Given the description of an element on the screen output the (x, y) to click on. 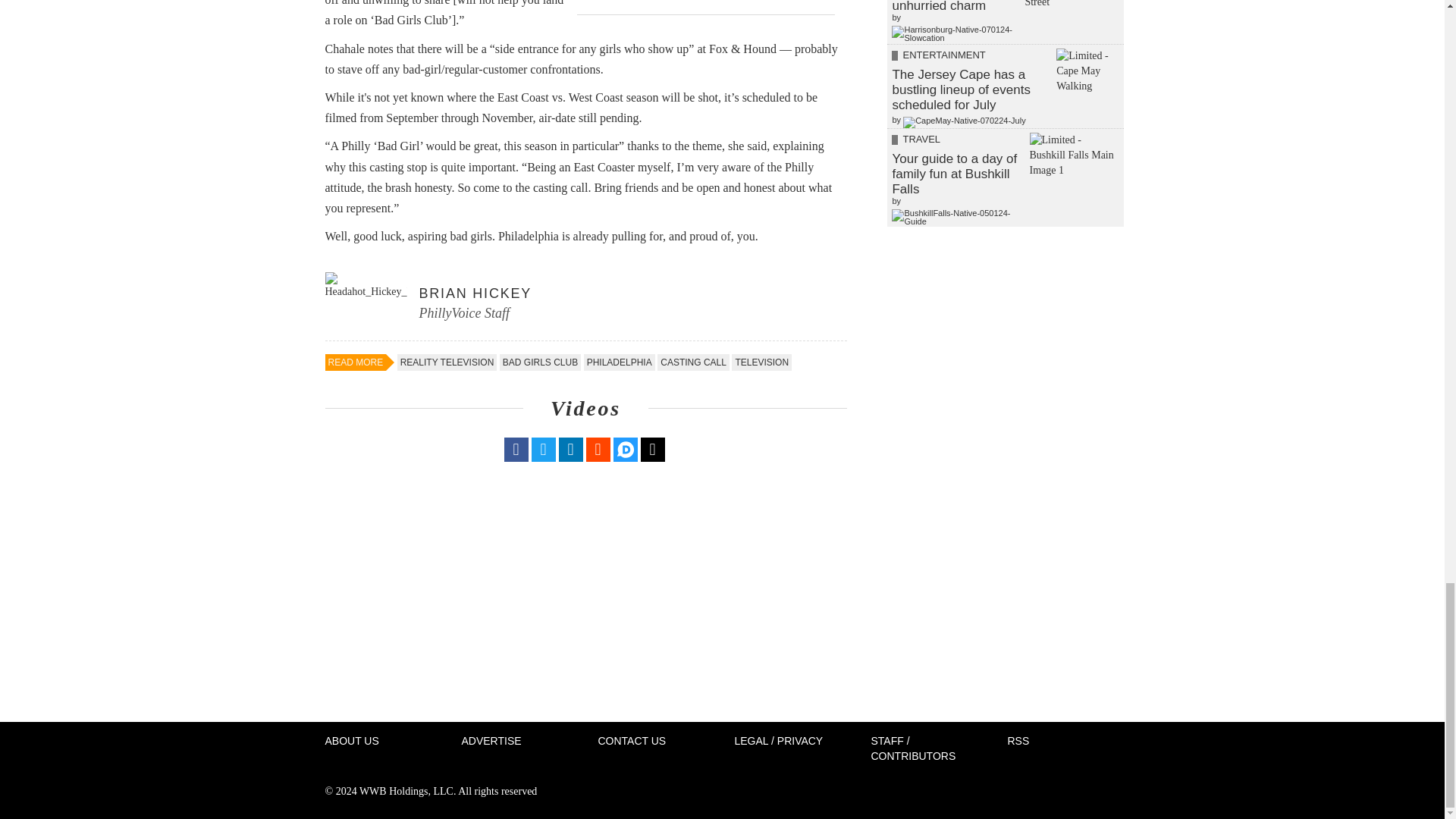
LinkedIn (569, 449)
Email (651, 449)
Twitter (542, 449)
Facebook (515, 449)
Reddit (597, 449)
